Given the description of an element on the screen output the (x, y) to click on. 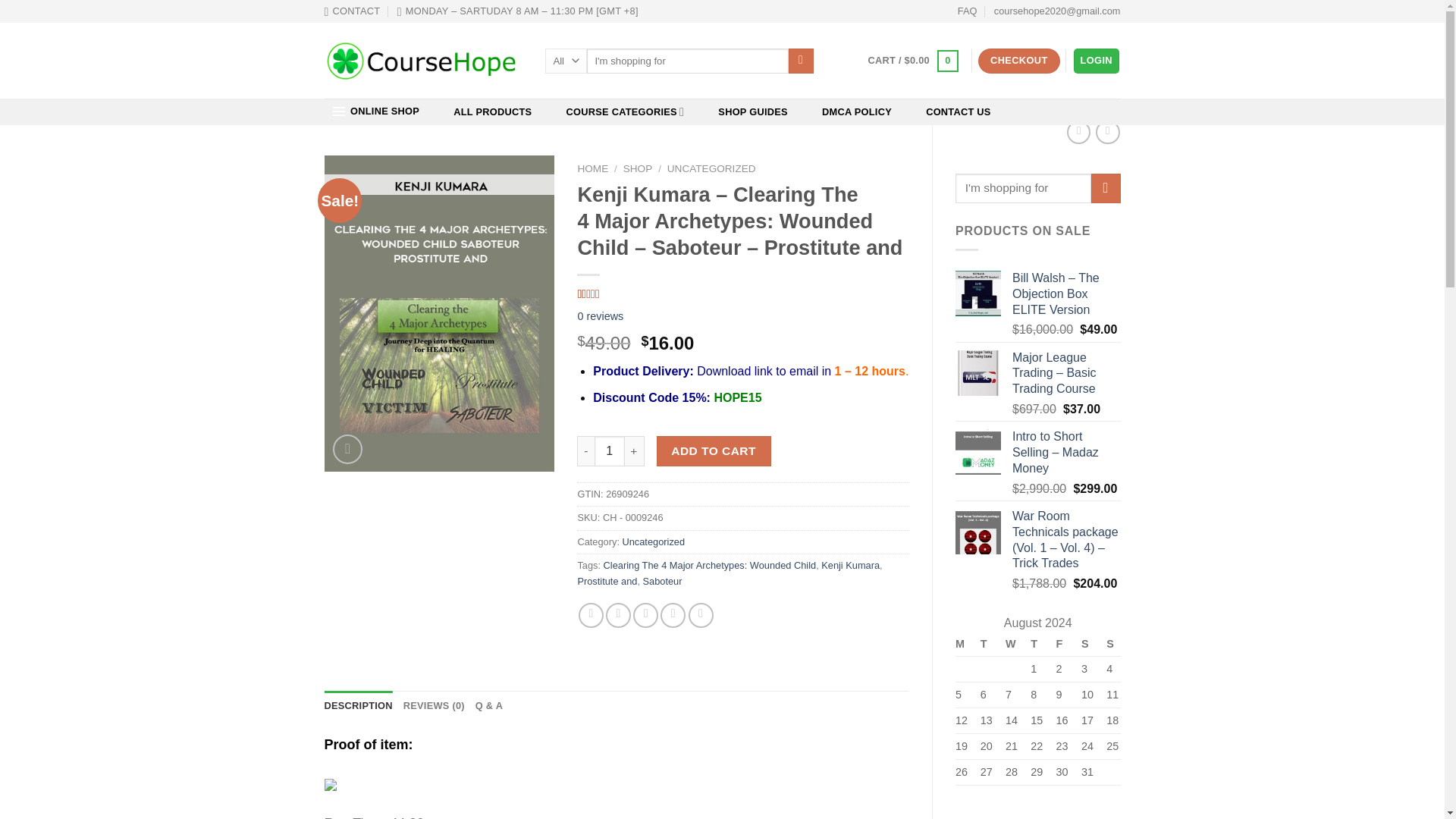
CHECKOUT (1018, 60)
HOME (592, 168)
Wednesday (1012, 644)
1 (609, 450)
Cart (913, 61)
CONTACT (352, 11)
Tuesday (986, 644)
Download Courses Shop - Download Courses Shop (423, 60)
Thursday (1037, 644)
Friday (1062, 644)
